Given the description of an element on the screen output the (x, y) to click on. 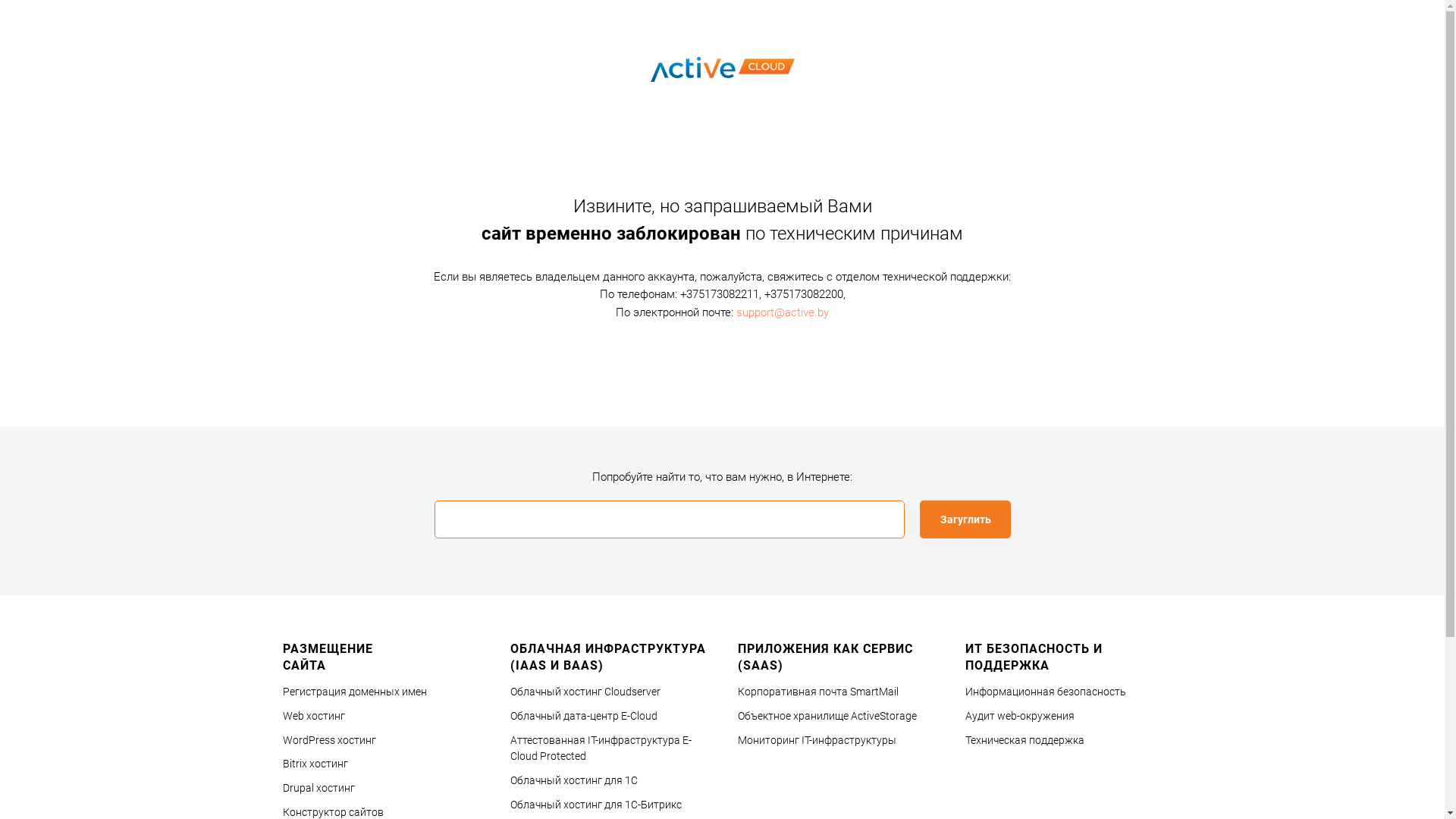
support@active.by Element type: text (782, 311)
+375173082200 Element type: text (803, 294)
+375173082211 Element type: text (718, 294)
